Given the description of an element on the screen output the (x, y) to click on. 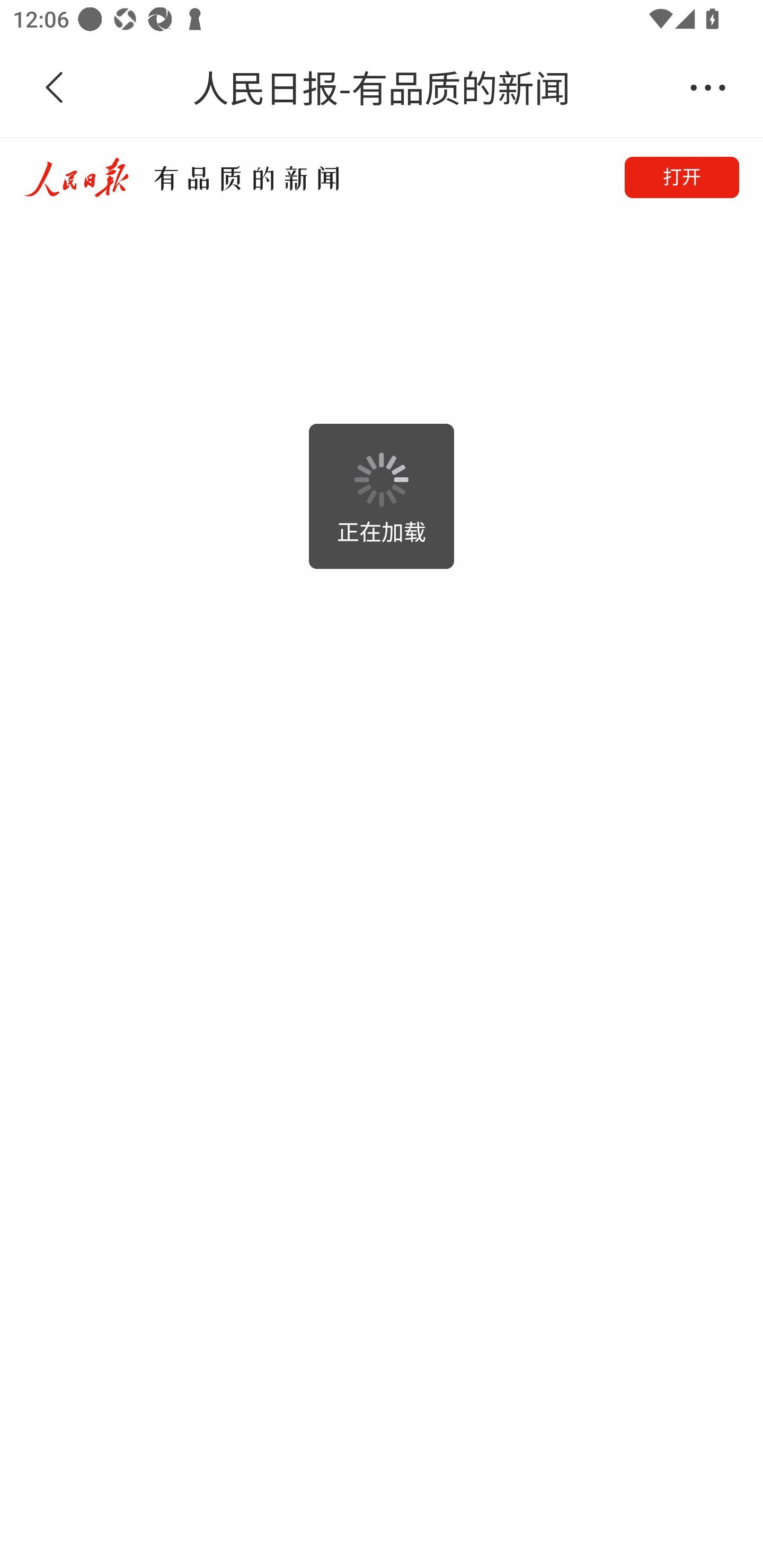
 返回 (54, 87)
 更多 (707, 87)
人民日报-有品质的新闻 (381, 88)
人民日报 有品质的新闻 (180, 176)
打开 (681, 176)
